Given the description of an element on the screen output the (x, y) to click on. 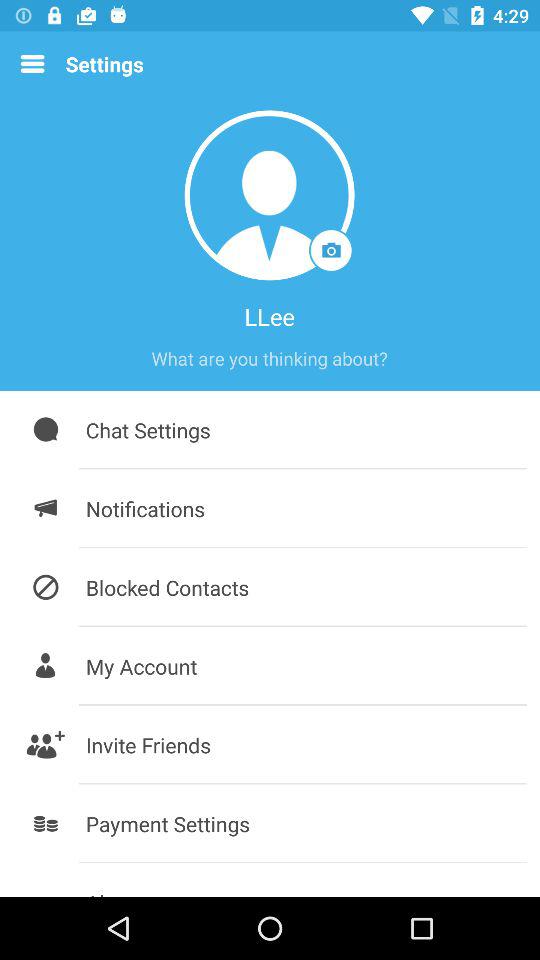
about me (269, 358)
